Given the description of an element on the screen output the (x, y) to click on. 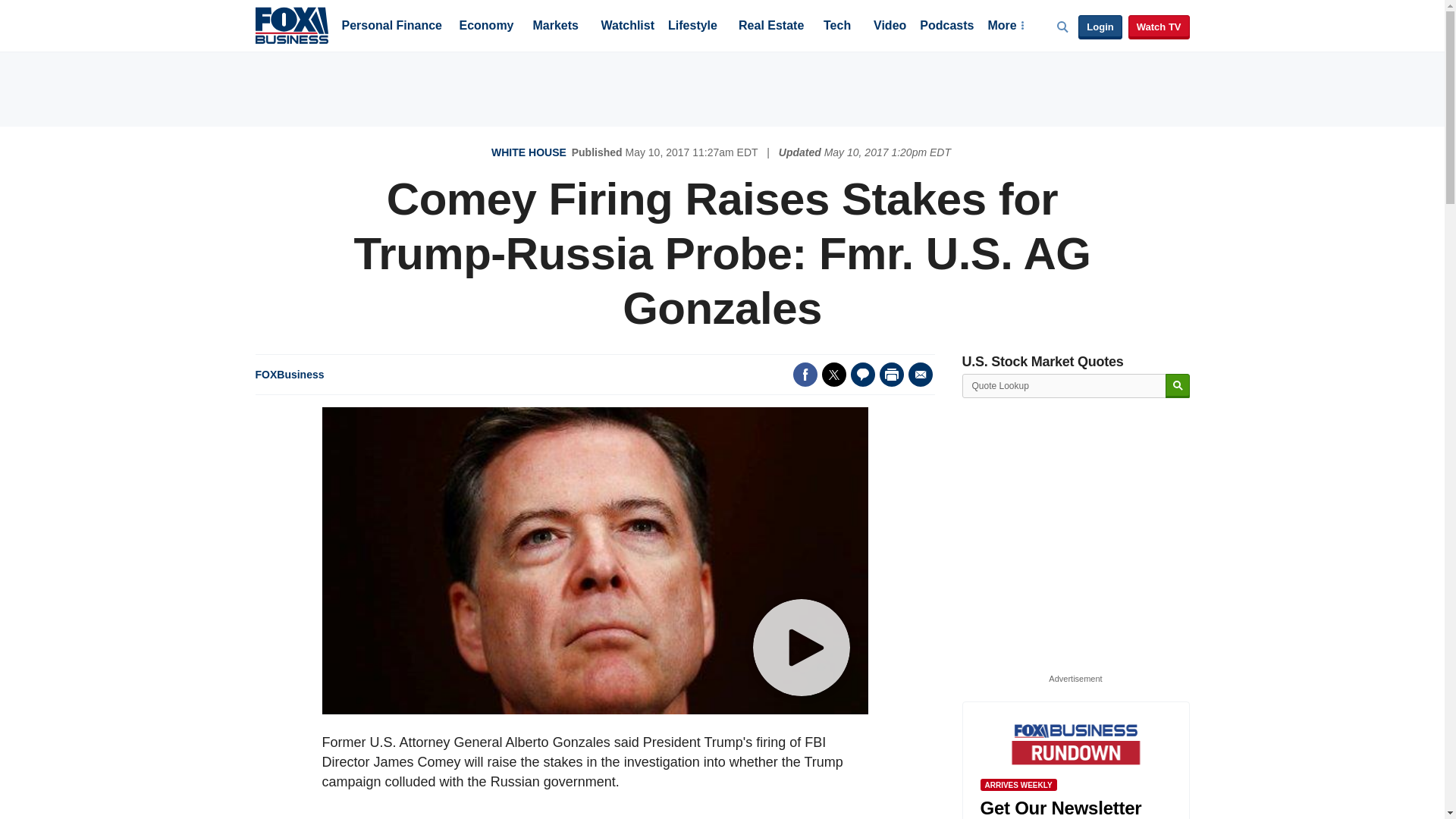
Podcasts (947, 27)
Login (1099, 27)
Markets (555, 27)
Video (889, 27)
More (1005, 27)
Fox Business (290, 24)
Watch TV (1158, 27)
Lifestyle (692, 27)
Search (1176, 385)
Economy (486, 27)
Search (1176, 385)
Watchlist (626, 27)
Real Estate (770, 27)
Tech (837, 27)
Personal Finance (391, 27)
